Given the description of an element on the screen output the (x, y) to click on. 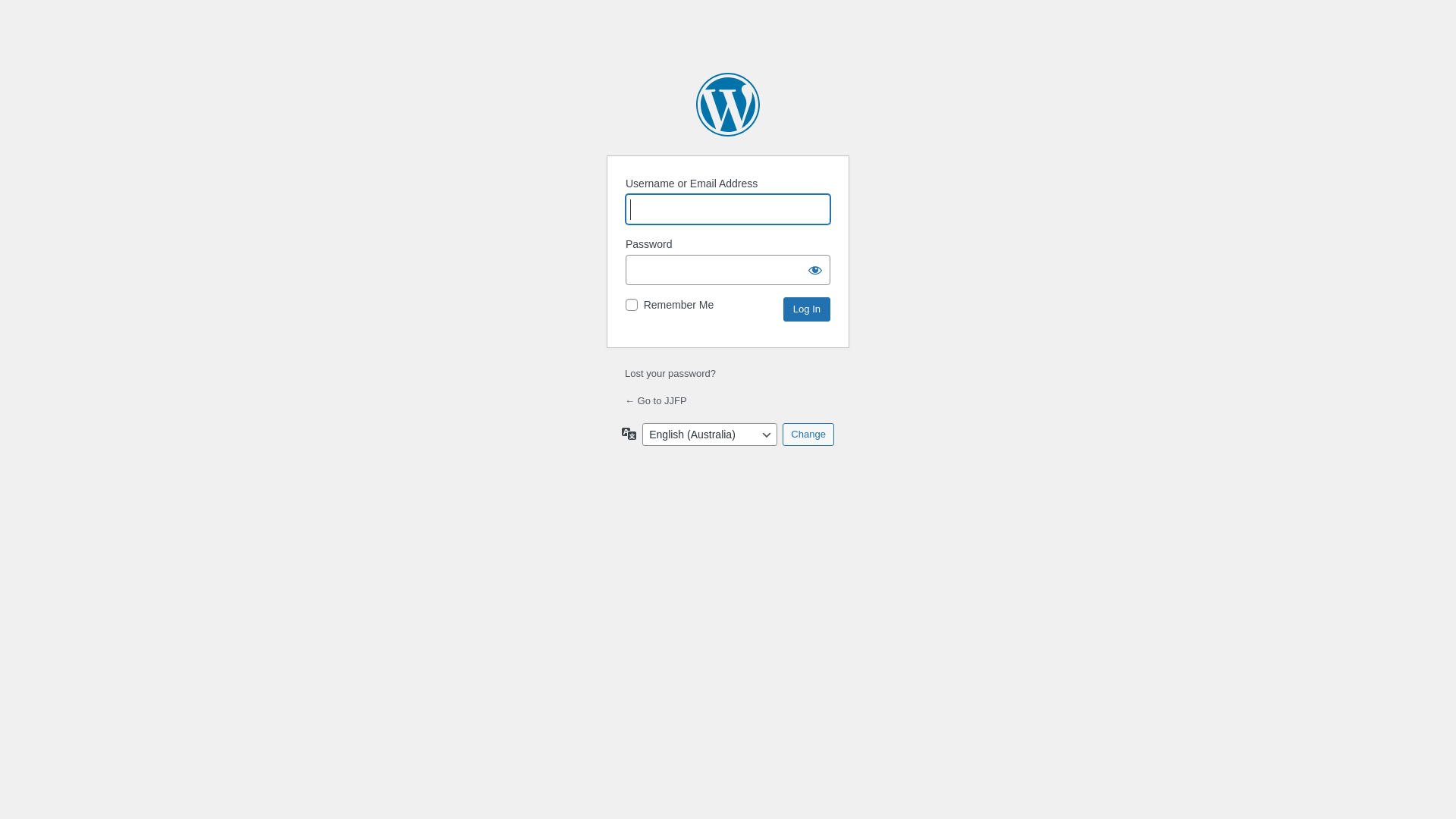
Lost your password? Element type: text (669, 373)
Powered by WordPress Element type: text (727, 104)
Log In Element type: text (806, 309)
Change Element type: text (808, 434)
